Given the description of an element on the screen output the (x, y) to click on. 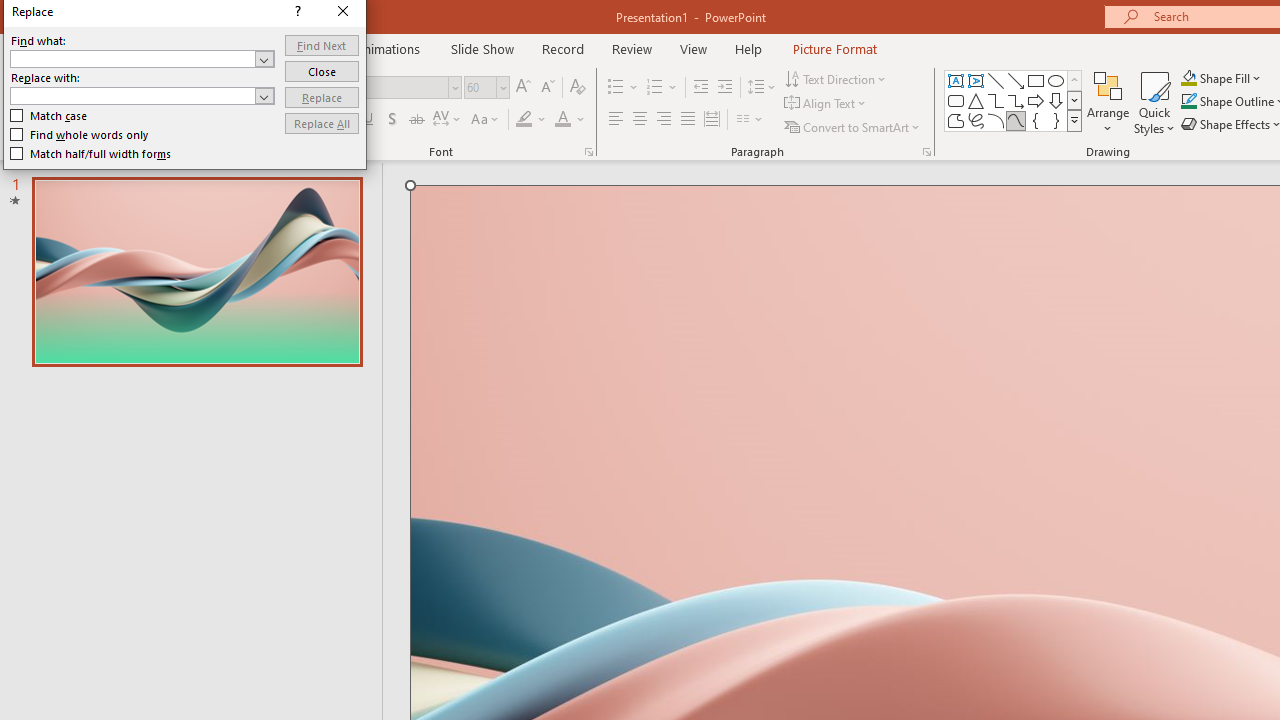
Find what (142, 58)
Match case (49, 115)
